Given the description of an element on the screen output the (x, y) to click on. 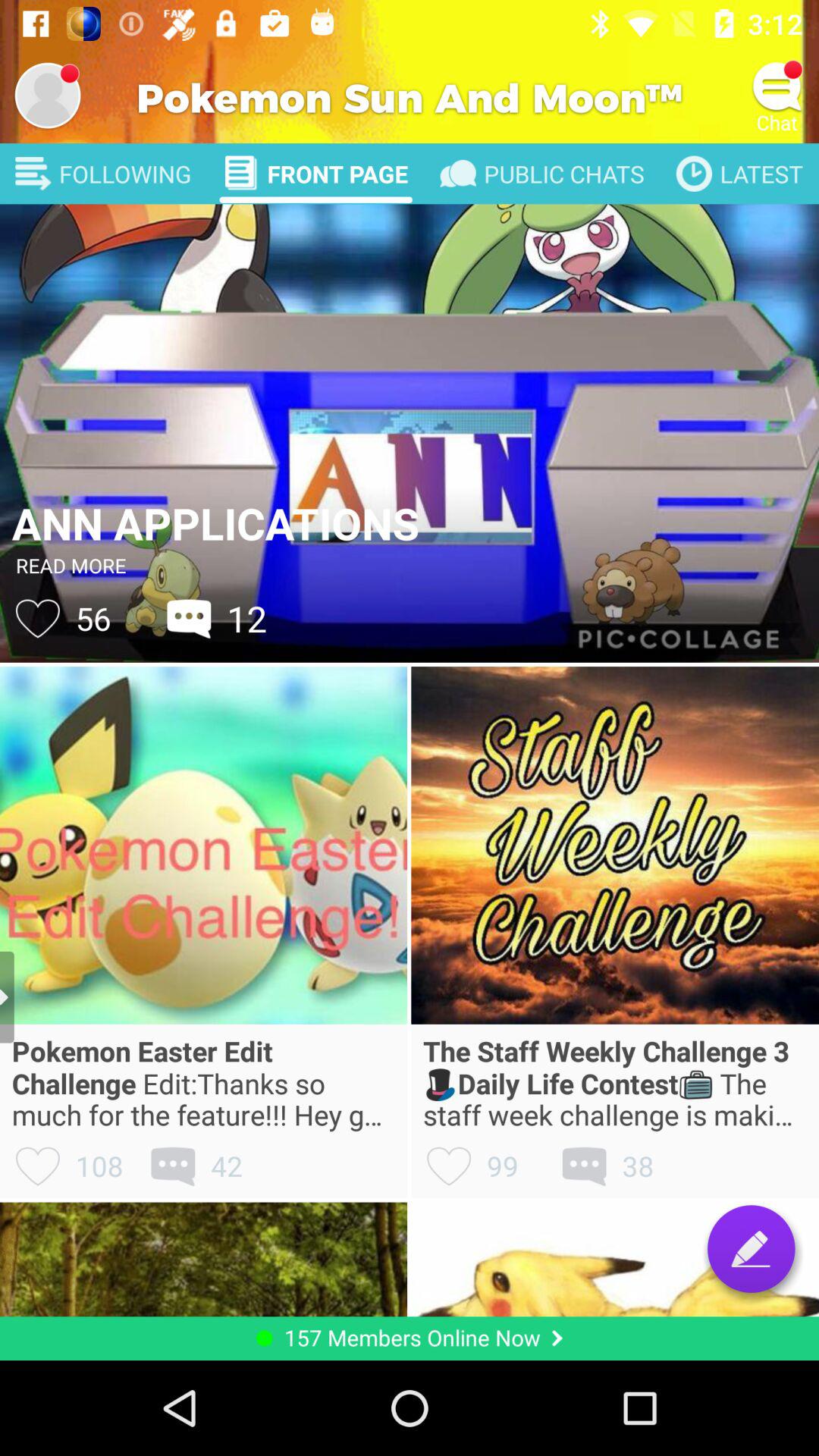
edit (751, 1248)
